Given the description of an element on the screen output the (x, y) to click on. 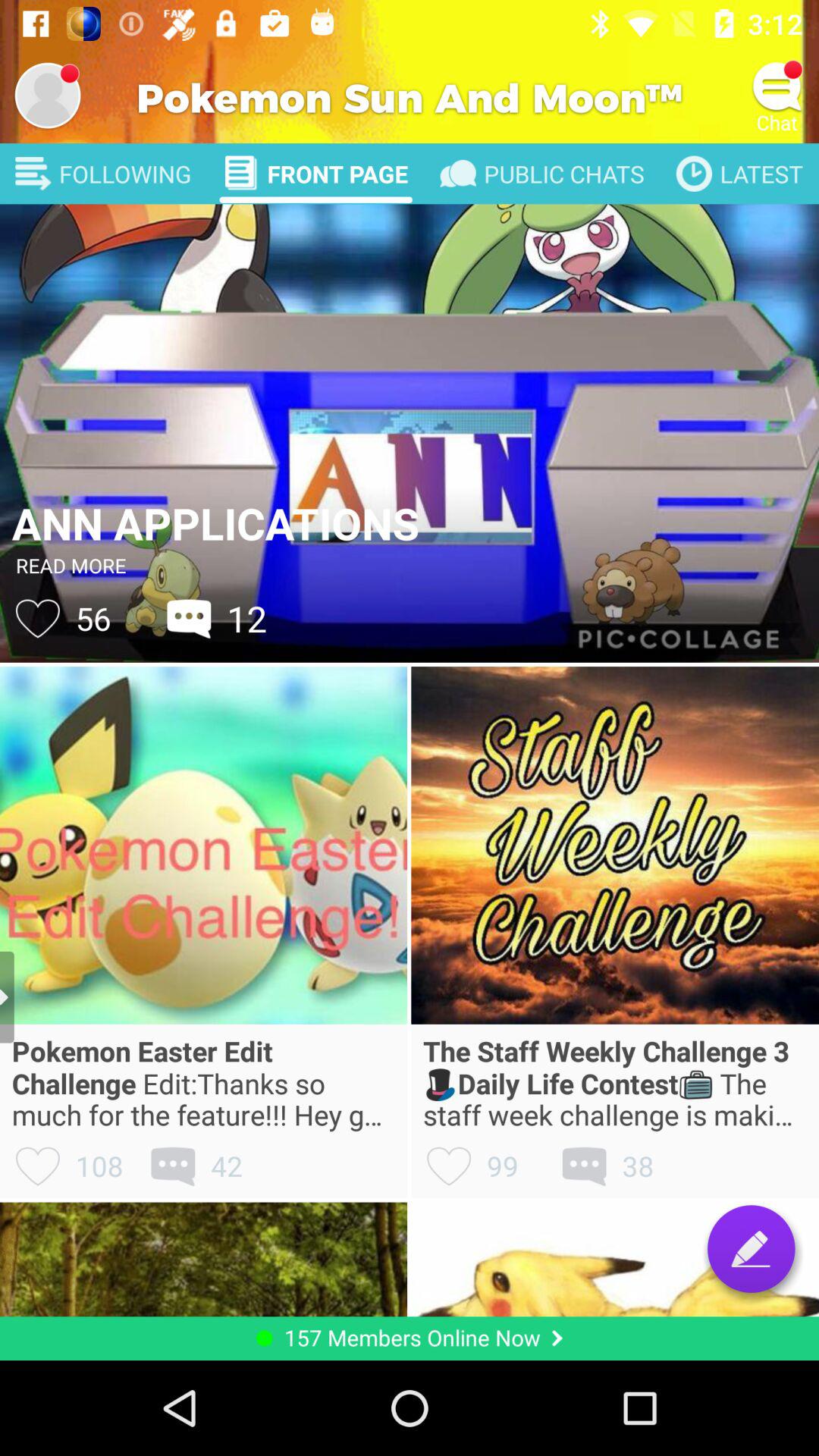
edit (751, 1248)
